Given the description of an element on the screen output the (x, y) to click on. 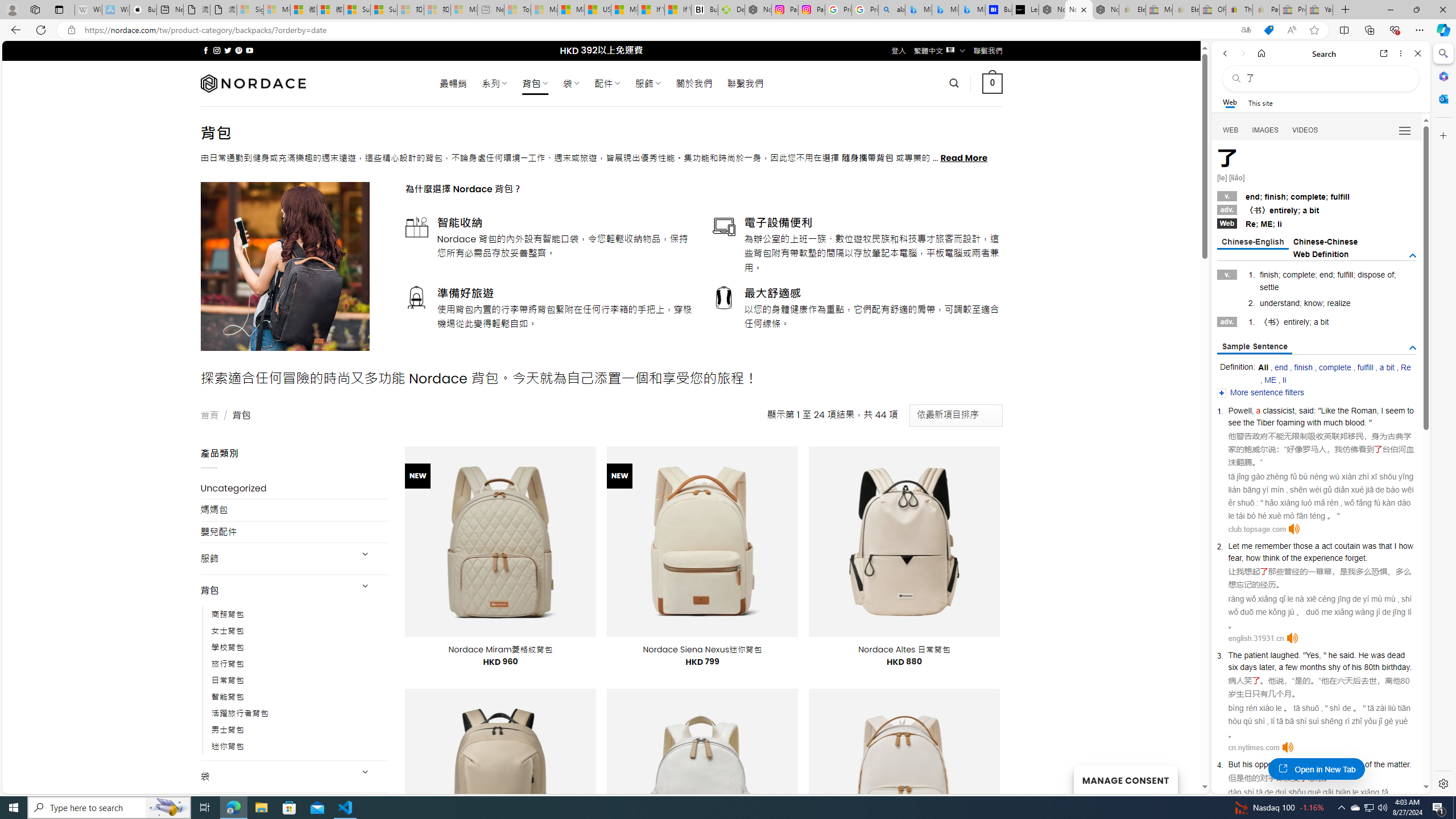
MANAGE CONSENT (1125, 779)
This site has coupons! Shopping in Microsoft Edge (1268, 29)
Show translate options (1245, 29)
Payments Terms of Use | eBay.com - Sleeping (1265, 9)
Microsoft Services Agreement - Sleeping (277, 9)
Uncategorized (294, 488)
